Given the description of an element on the screen output the (x, y) to click on. 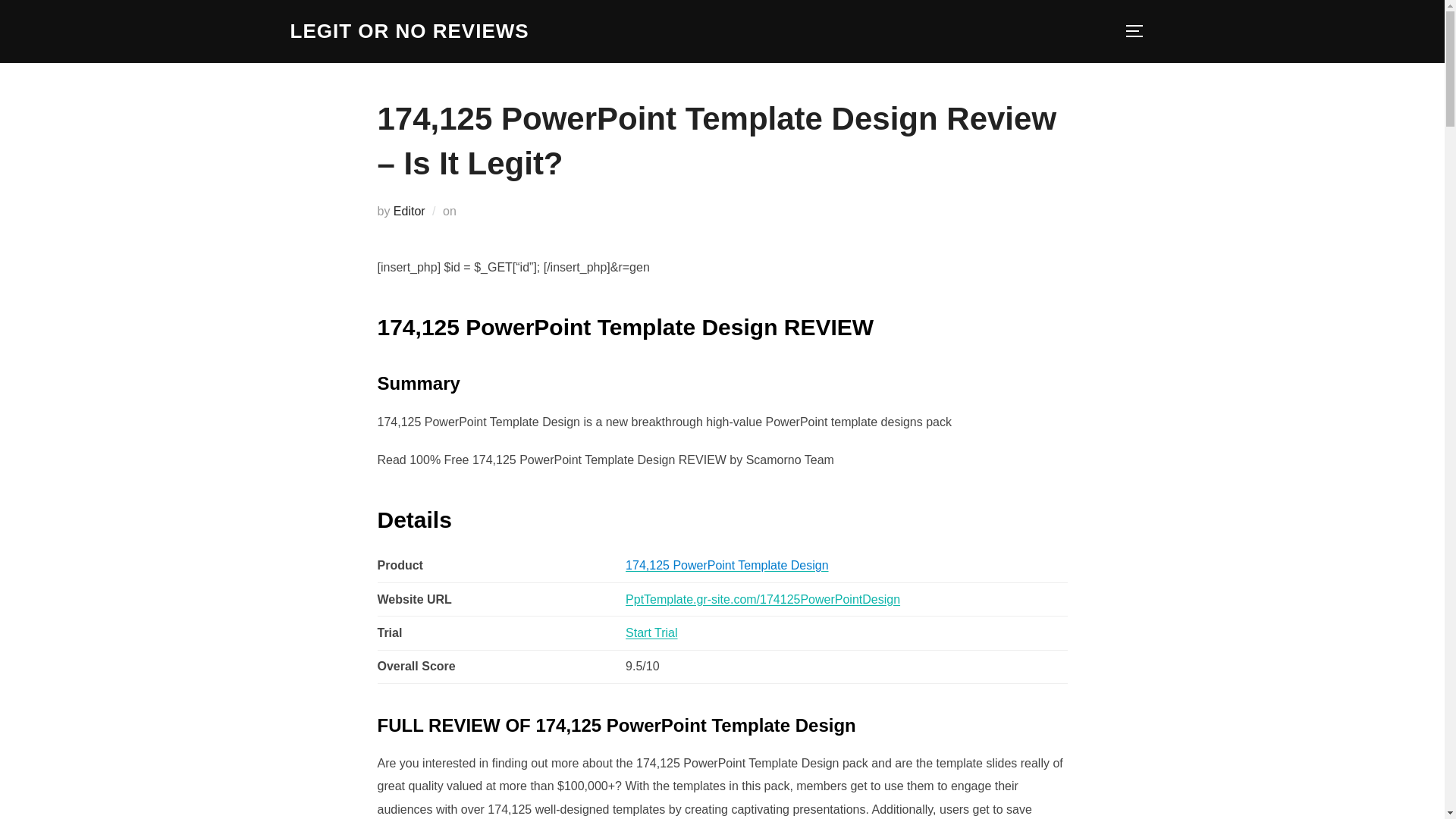
Editor (409, 210)
174,125 PowerPoint Template Design (727, 564)
LEGIT OR NO REVIEWS (408, 31)
Start Trial (651, 632)
